Given the description of an element on the screen output the (x, y) to click on. 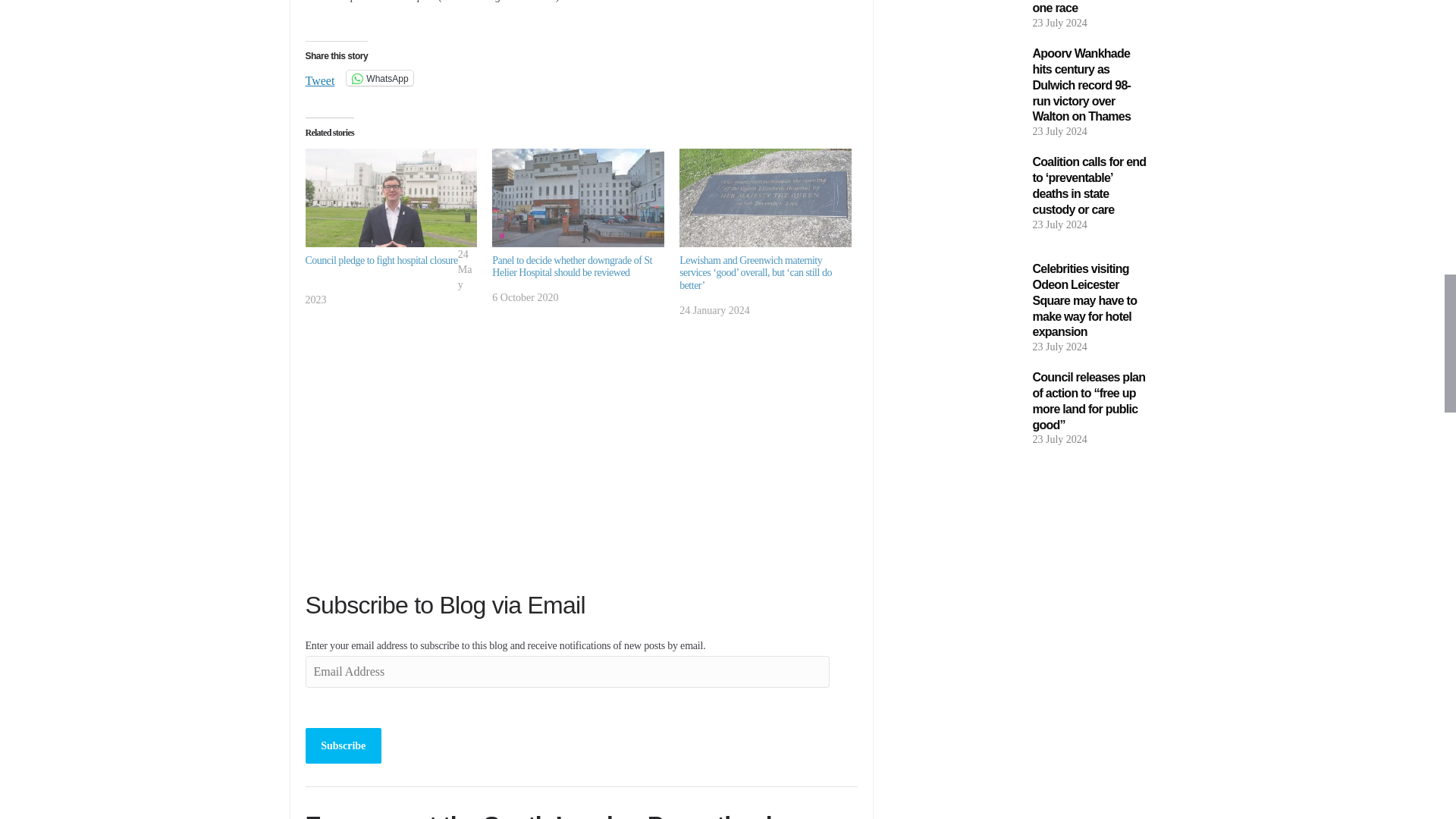
Council pledge to fight hospital closure (390, 197)
Click to share on WhatsApp (379, 77)
Council pledge to fight hospital closure (380, 257)
